Given the description of an element on the screen output the (x, y) to click on. 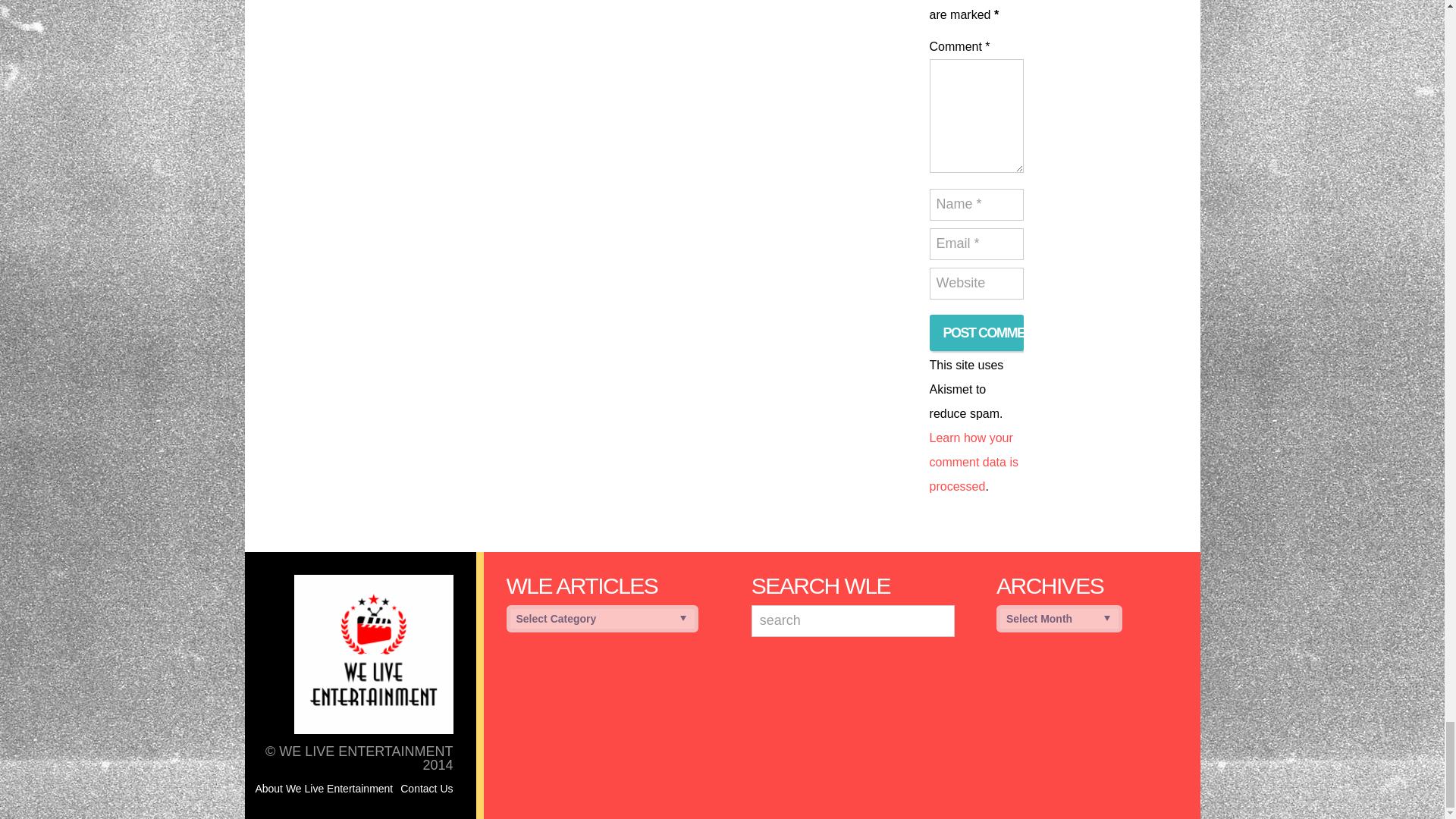
Post Comment (977, 332)
